Given the description of an element on the screen output the (x, y) to click on. 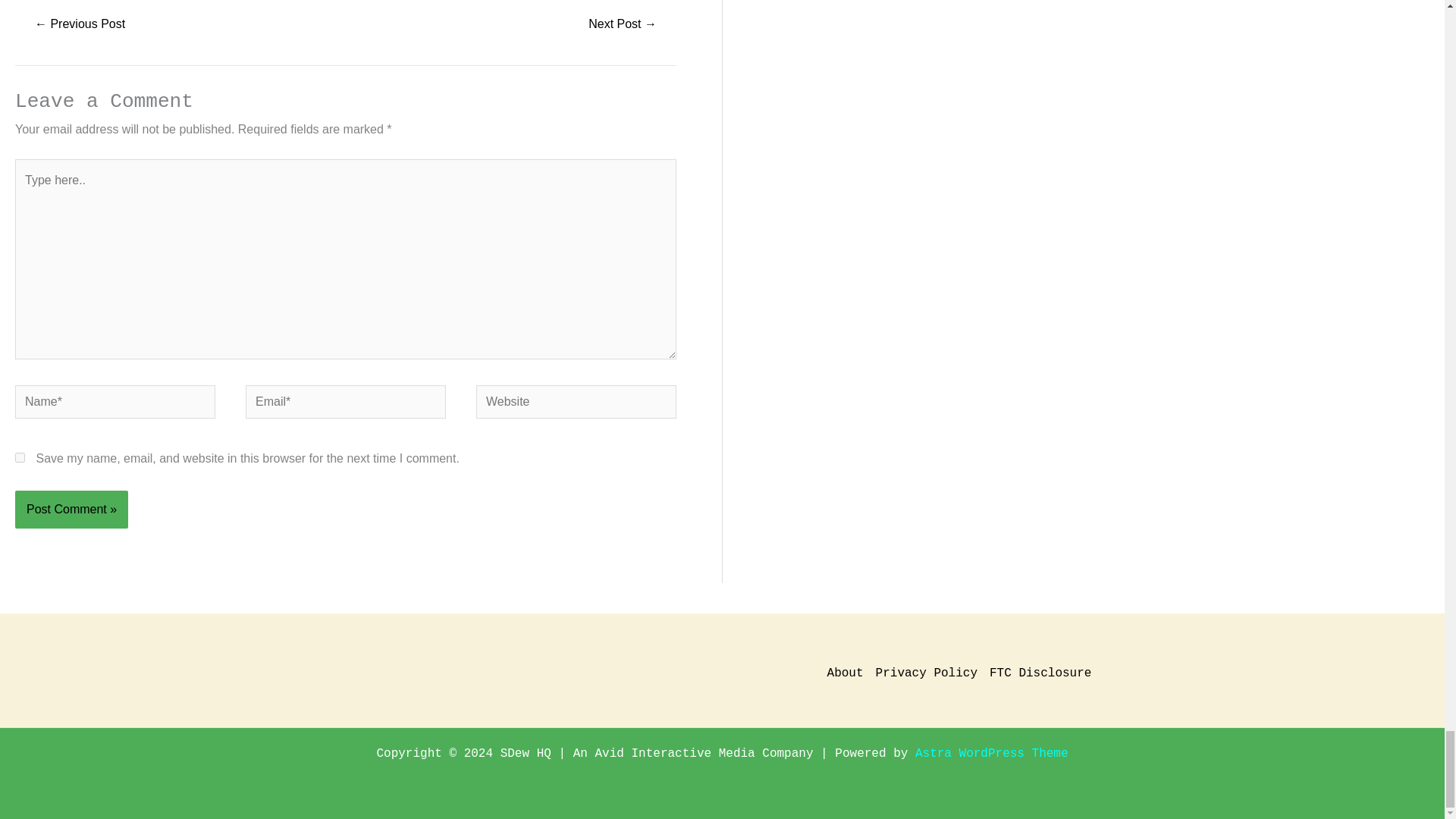
yes (19, 457)
Marnie Stardew Valley Guide (79, 25)
Lewis Stardew Valley Guide: Introducing Mr. Mayor (622, 25)
